Given the description of an element on the screen output the (x, y) to click on. 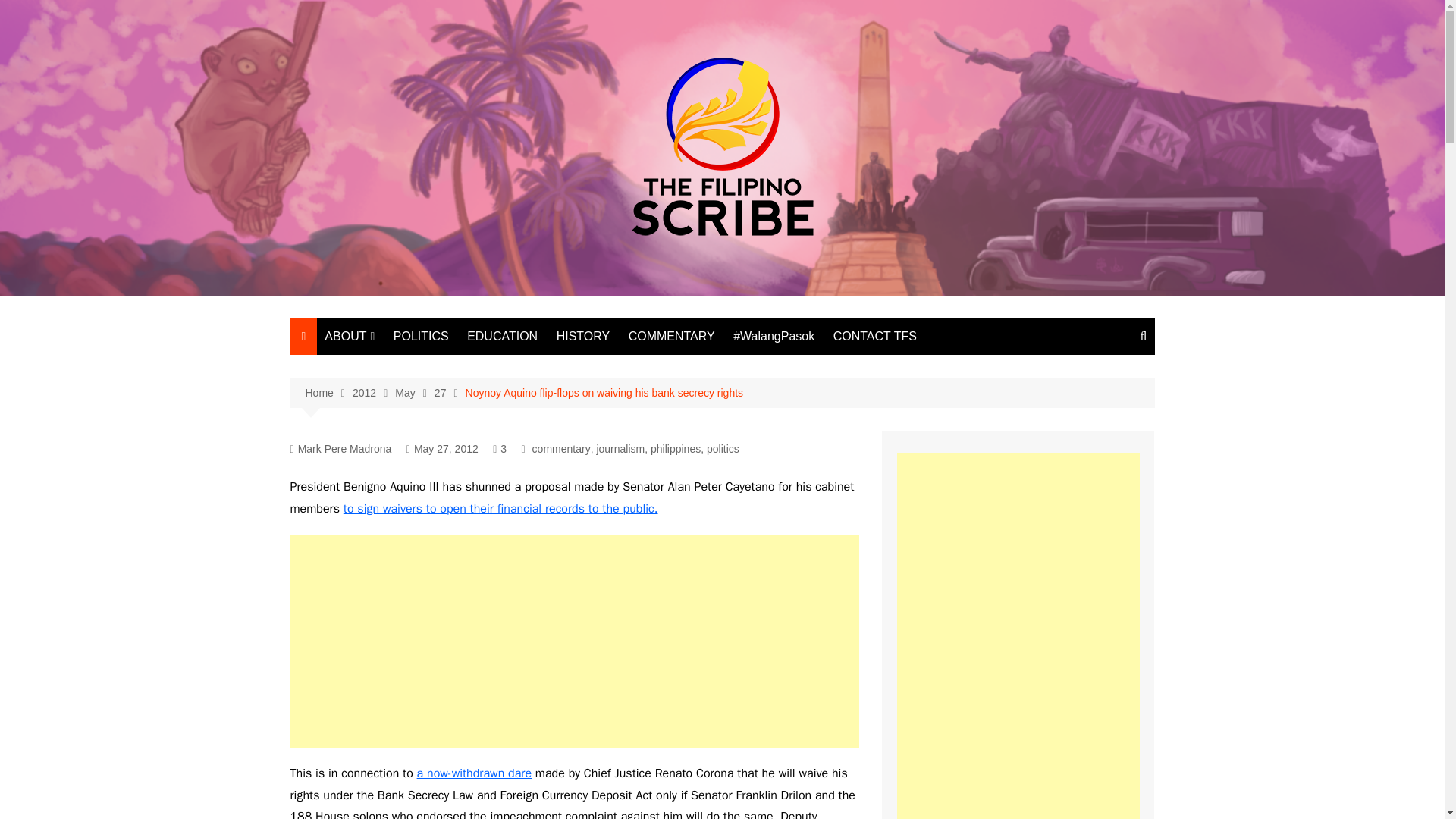
commentary (561, 448)
THE OWNER (400, 392)
May (413, 393)
POLITICS (421, 336)
COMMENTARY (671, 336)
Advertisement (574, 641)
2012 (373, 393)
Mark Pere Madrona (340, 448)
THE FILIPINO SCRIBE (400, 367)
a now-withdrawn dare (473, 773)
EDUCATION (502, 336)
27 (449, 393)
politics (722, 448)
CONTACT TFS (874, 336)
